Given the description of an element on the screen output the (x, y) to click on. 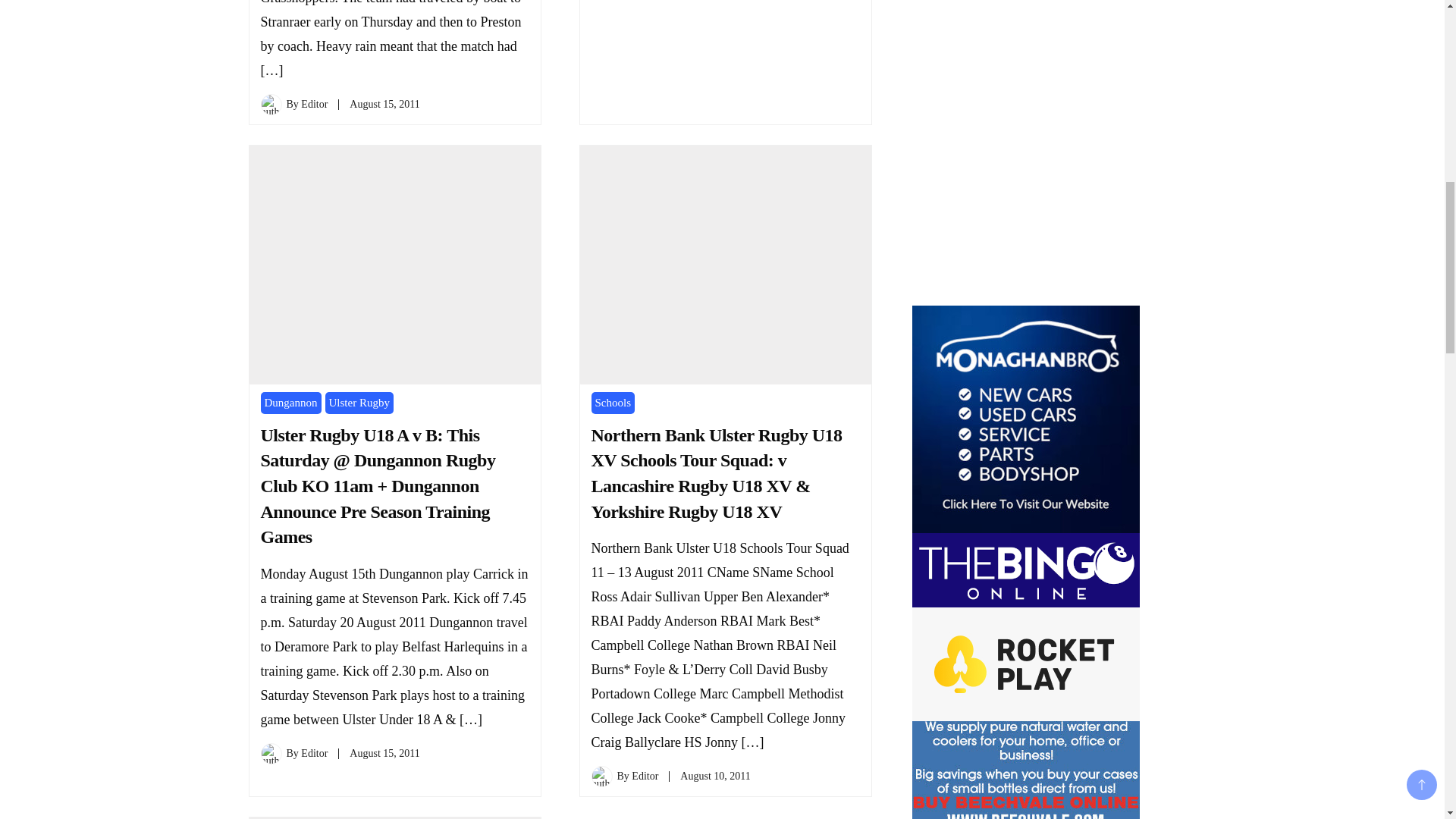
Editor (314, 103)
Dungannon (290, 403)
Rocketplay Casino (1024, 664)
Advertisement (1024, 149)
TheBingoOnline (1024, 570)
August 15, 2011 (384, 103)
